Given the description of an element on the screen output the (x, y) to click on. 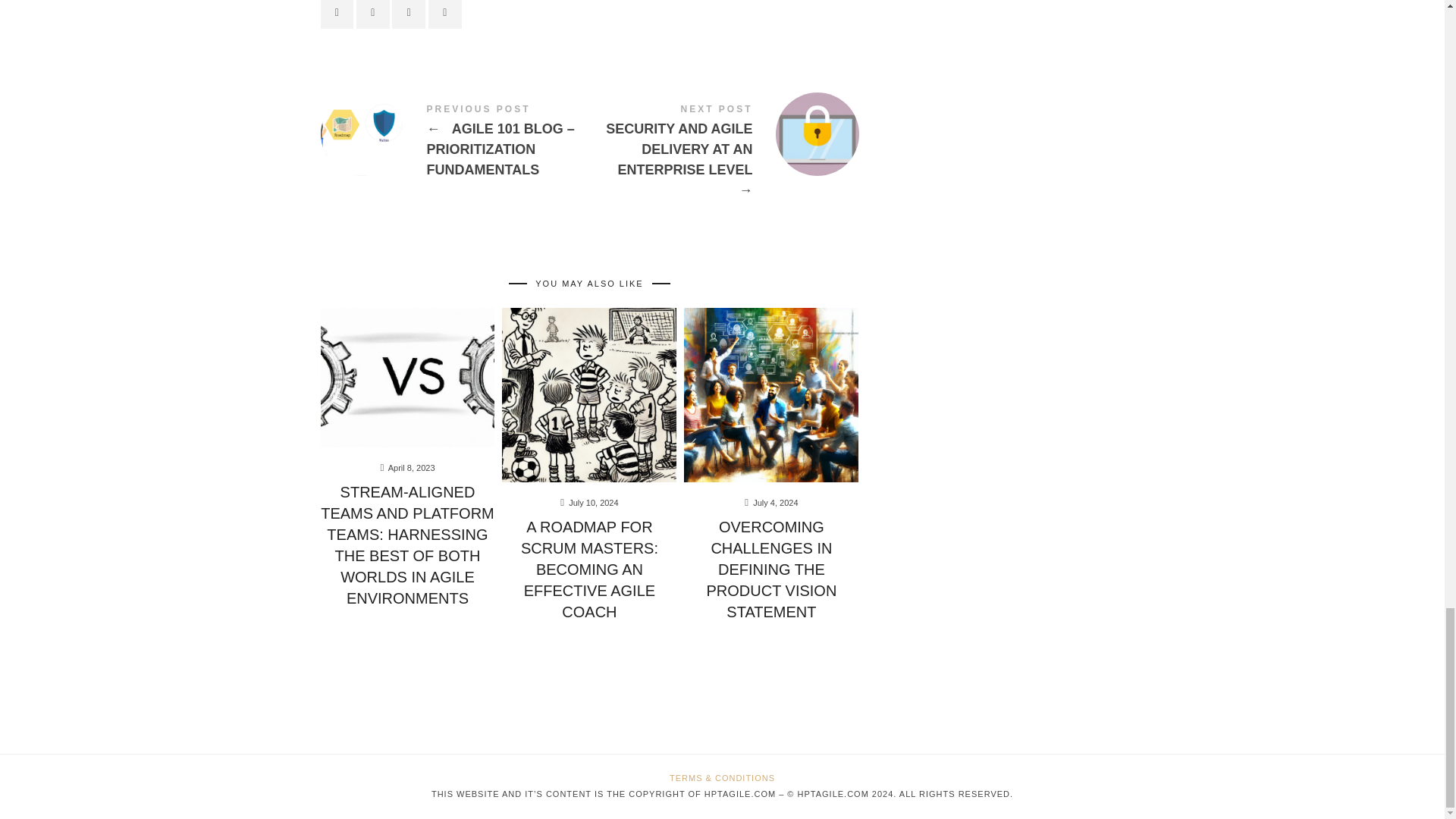
Pin it (408, 14)
April 8, 2023 (411, 467)
AGILE 101 BLOG - PRIORITIZATION FUNDAMENTALS (454, 143)
SECURITY AND AGILE DELIVERY AT AN ENTERPRISE LEVEL (724, 153)
Tweet this post to your followers (373, 14)
Share this post on Facebook (336, 14)
Email this post to a friend (444, 14)
